Given the description of an element on the screen output the (x, y) to click on. 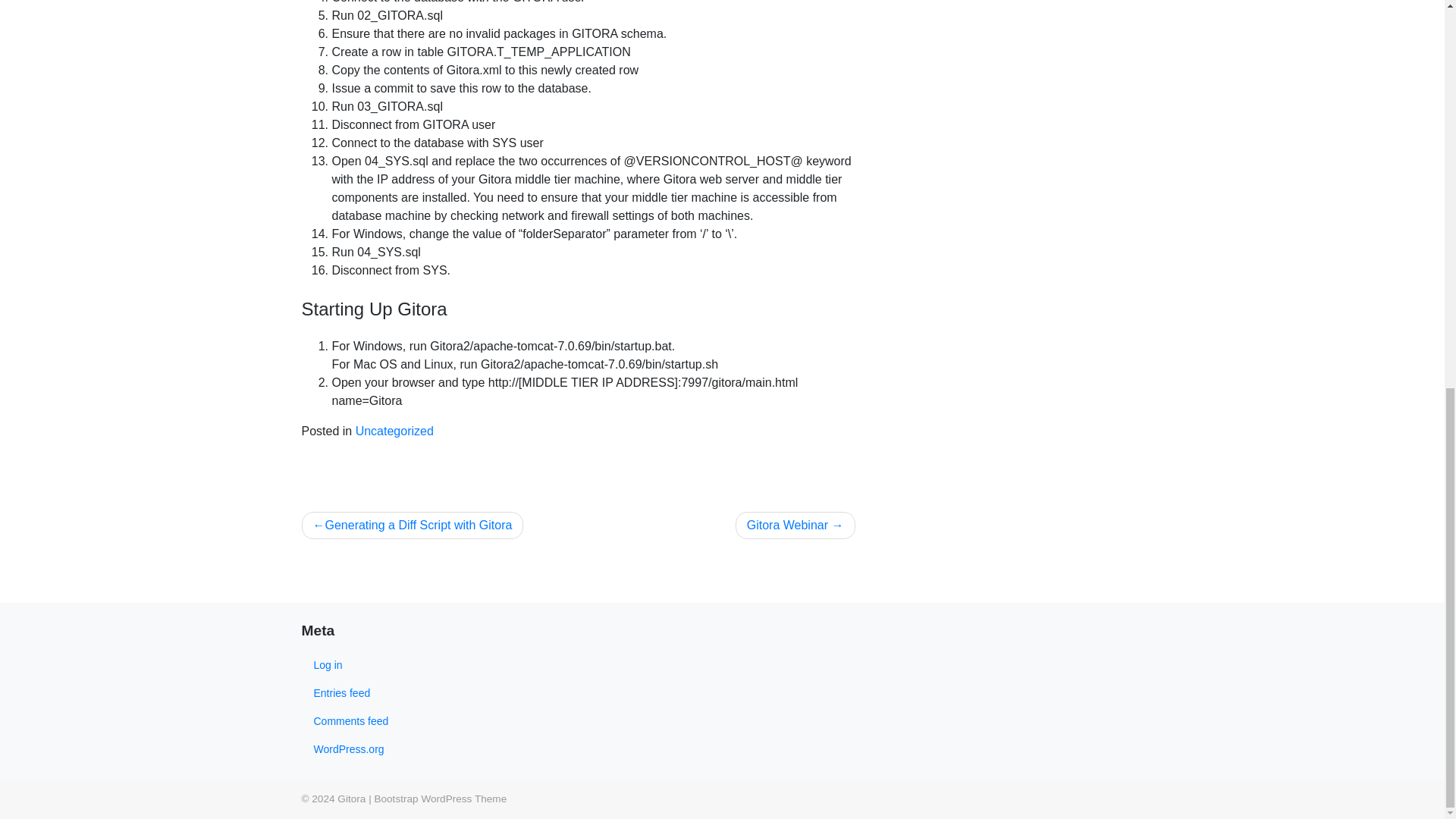
Uncategorized (394, 431)
Gitora Webinar (795, 524)
WordPress Technical Support (440, 798)
Generating a Diff Script with Gitora (412, 524)
